Given the description of an element on the screen output the (x, y) to click on. 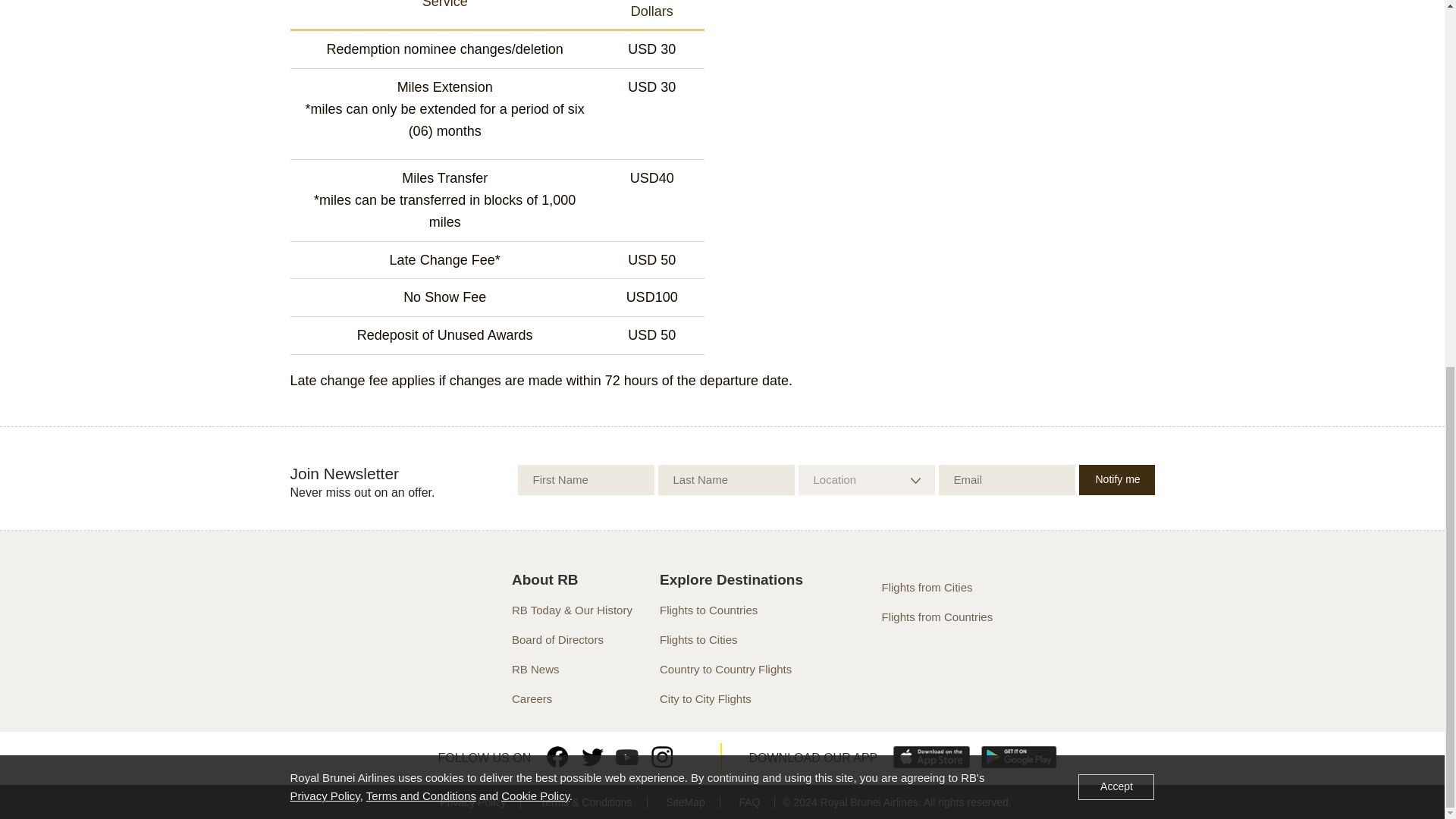
Notify me (1116, 480)
